Given the description of an element on the screen output the (x, y) to click on. 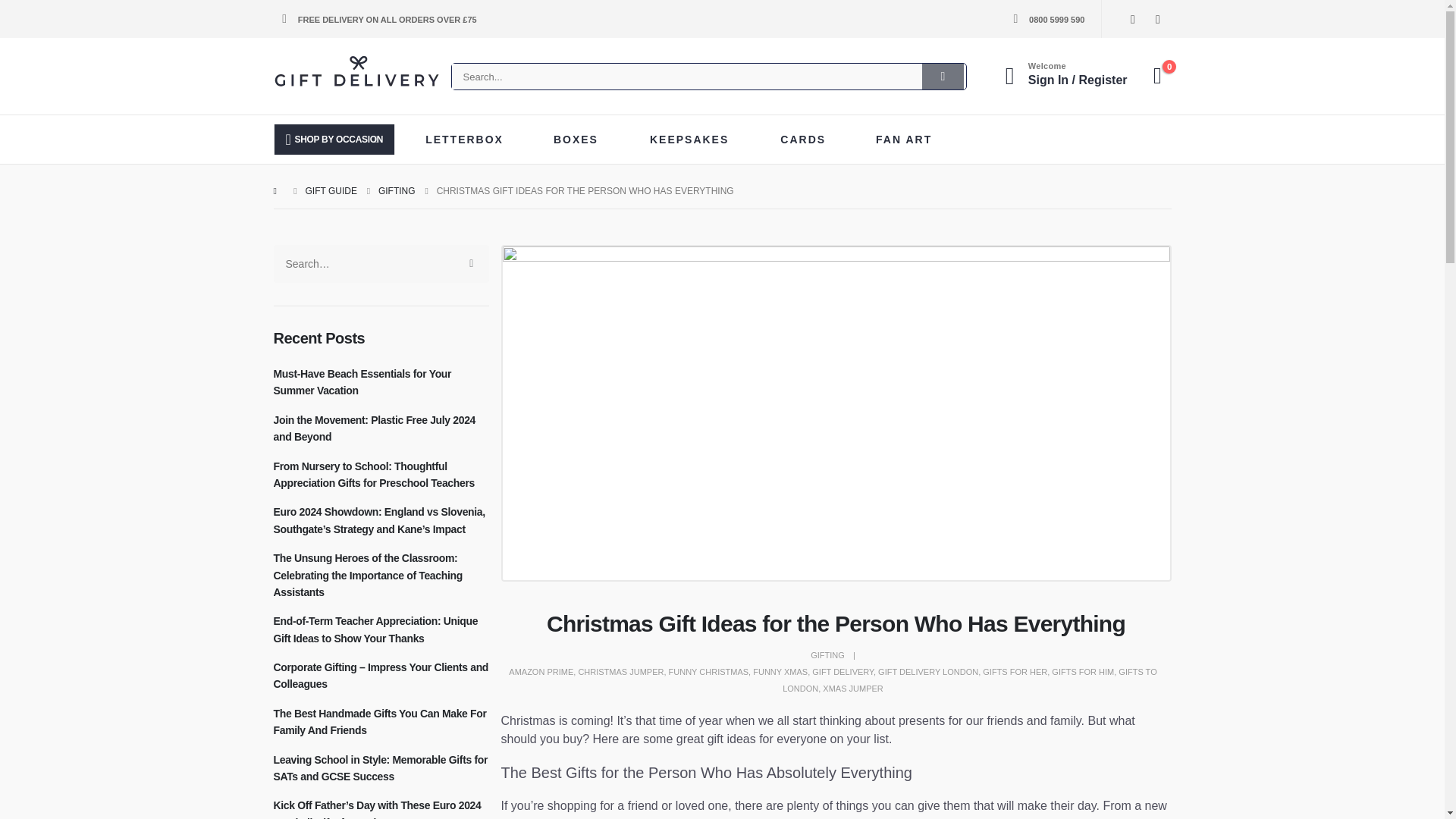
Search (942, 76)
KEEPSAKES (694, 139)
CARDS (808, 139)
Facebook (1131, 18)
LETTERBOX (469, 139)
Gift Delivery UK - Send the perfect gift online today (356, 72)
Instagram (1157, 18)
BOXES (580, 139)
